Given the description of an element on the screen output the (x, y) to click on. 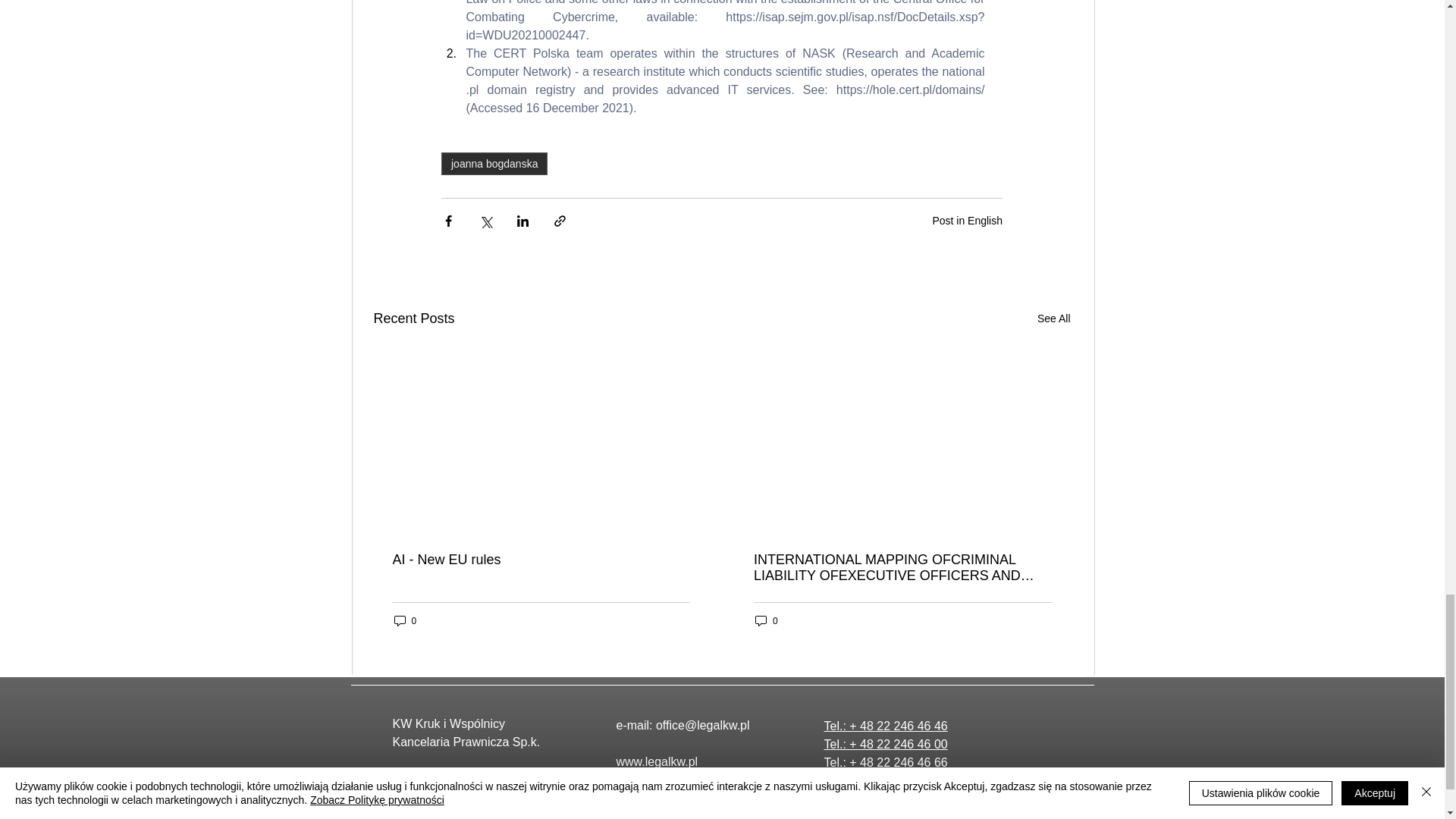
www.legalkw.pl (656, 761)
joanna bogdanska (494, 163)
AI - New EU rules (541, 560)
0 (406, 620)
See All (1053, 318)
Post in English (967, 220)
0 (766, 620)
